Given the description of an element on the screen output the (x, y) to click on. 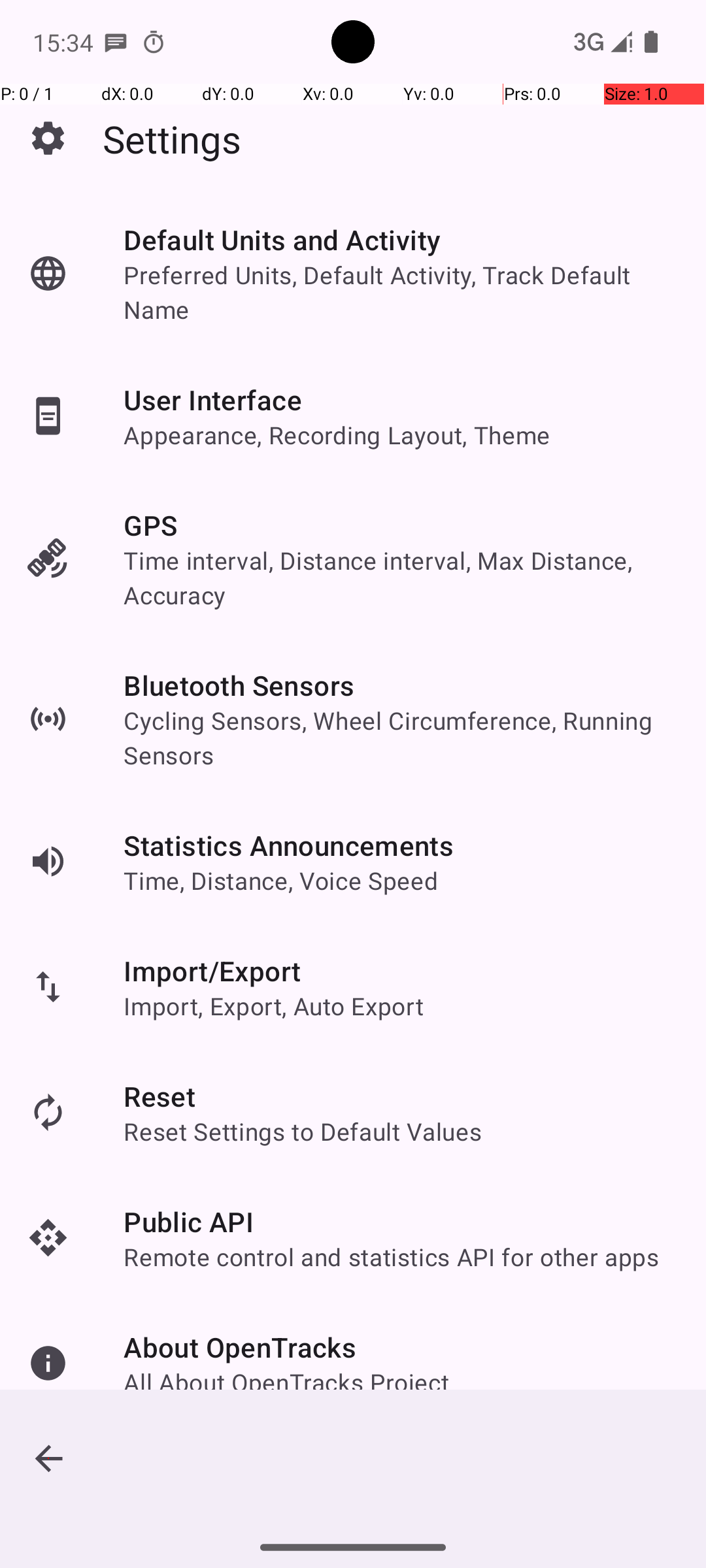
Default Units and Activity Element type: android.widget.TextView (282, 239)
Preferred Units, Default Activity, Track Default Name Element type: android.widget.TextView (400, 292)
User Interface Element type: android.widget.TextView (212, 399)
Appearance, Recording Layout, Theme Element type: android.widget.TextView (336, 434)
GPS Element type: android.widget.TextView (150, 524)
Time interval, Distance interval, Max Distance, Accuracy Element type: android.widget.TextView (400, 577)
Bluetooth Sensors Element type: android.widget.TextView (238, 684)
Cycling Sensors, Wheel Circumference, Running Sensors Element type: android.widget.TextView (400, 737)
Statistics Announcements Element type: android.widget.TextView (288, 844)
Time, Distance, Voice Speed Element type: android.widget.TextView (280, 880)
Import/Export Element type: android.widget.TextView (212, 970)
Import, Export, Auto Export Element type: android.widget.TextView (273, 1005)
Reset Settings to Default Values Element type: android.widget.TextView (302, 1130)
Public API Element type: android.widget.TextView (188, 1221)
Remote control and statistics API for other apps Element type: android.widget.TextView (391, 1256)
About OpenTracks Element type: android.widget.TextView (239, 1346)
All About OpenTracks Project Element type: android.widget.TextView (286, 1381)
